Given the description of an element on the screen output the (x, y) to click on. 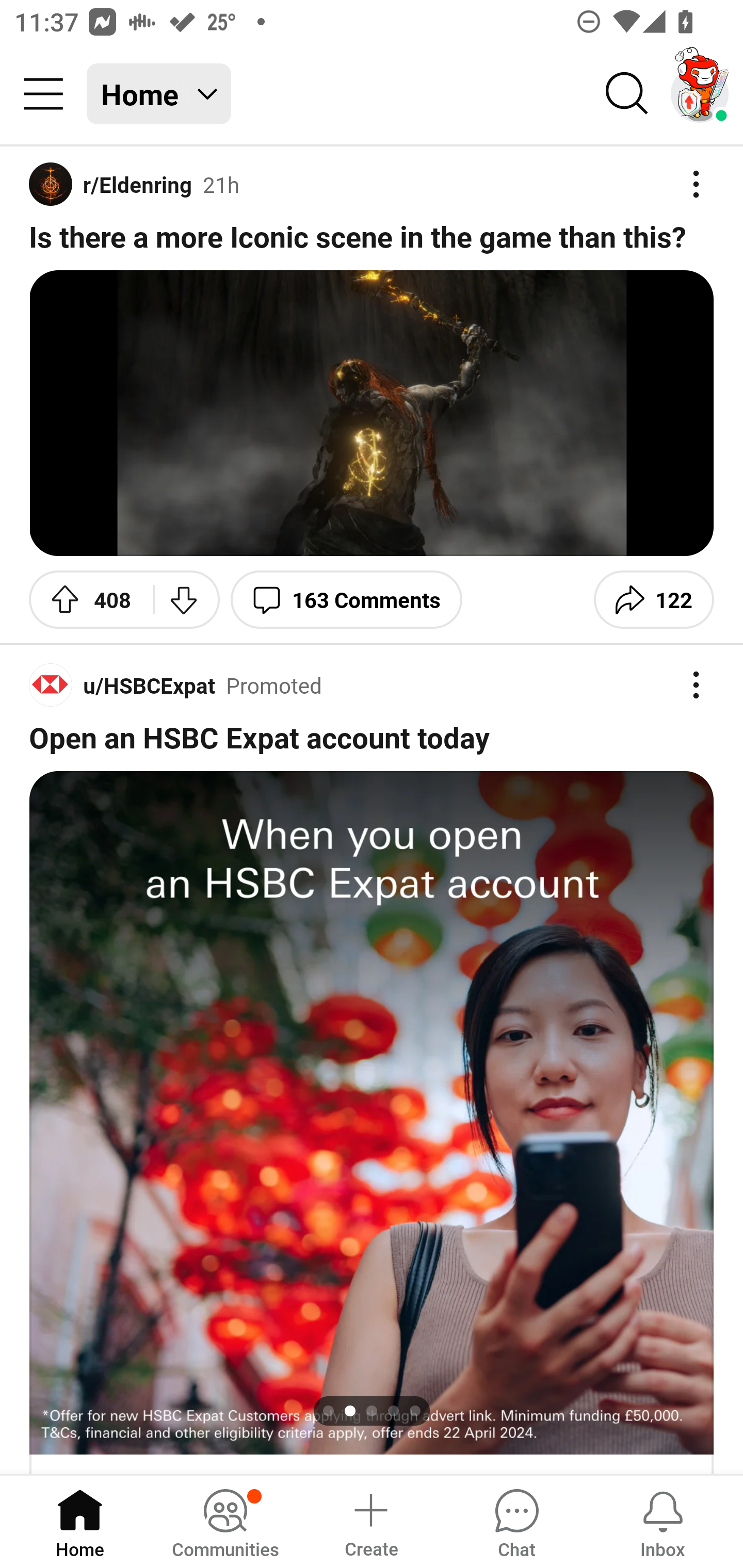
Community menu (43, 93)
Home Home feed (158, 93)
Search (626, 93)
TestAppium002 account (699, 93)
Image 2 of 5 (371, 1113)
Home (80, 1520)
Communities, has notifications Communities (225, 1520)
Create a post Create (370, 1520)
Chat (516, 1520)
Inbox (662, 1520)
